Given the description of an element on the screen output the (x, y) to click on. 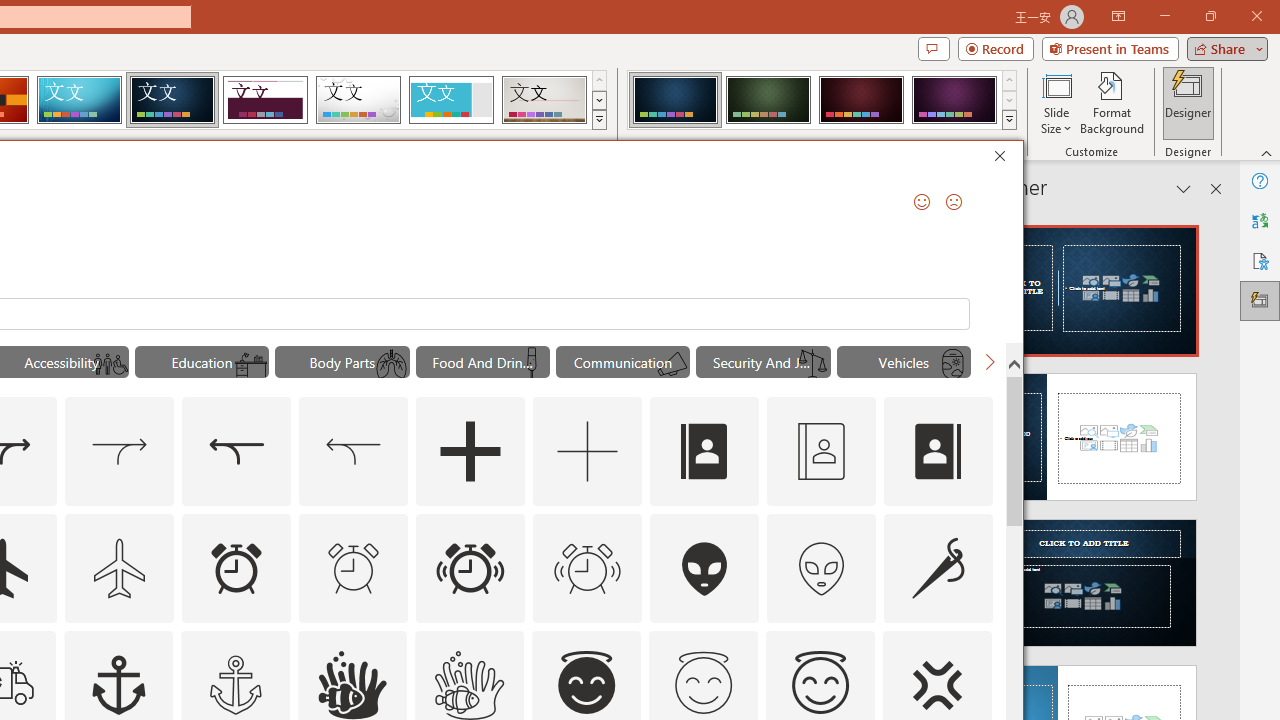
AutomationID: Icons_Add_M (587, 452)
"Food And Drinks" Icons. (483, 362)
Damask (171, 100)
Circuit (79, 100)
AutomationID: Icons_UniversalAccess_M (111, 364)
Damask Variant 1 (674, 100)
Droplet (358, 100)
AutomationID: Icons_Champagne_M (532, 364)
"Vehicles" Icons. (904, 362)
"Security And Justice" Icons. (763, 362)
